Given the description of an element on the screen output the (x, y) to click on. 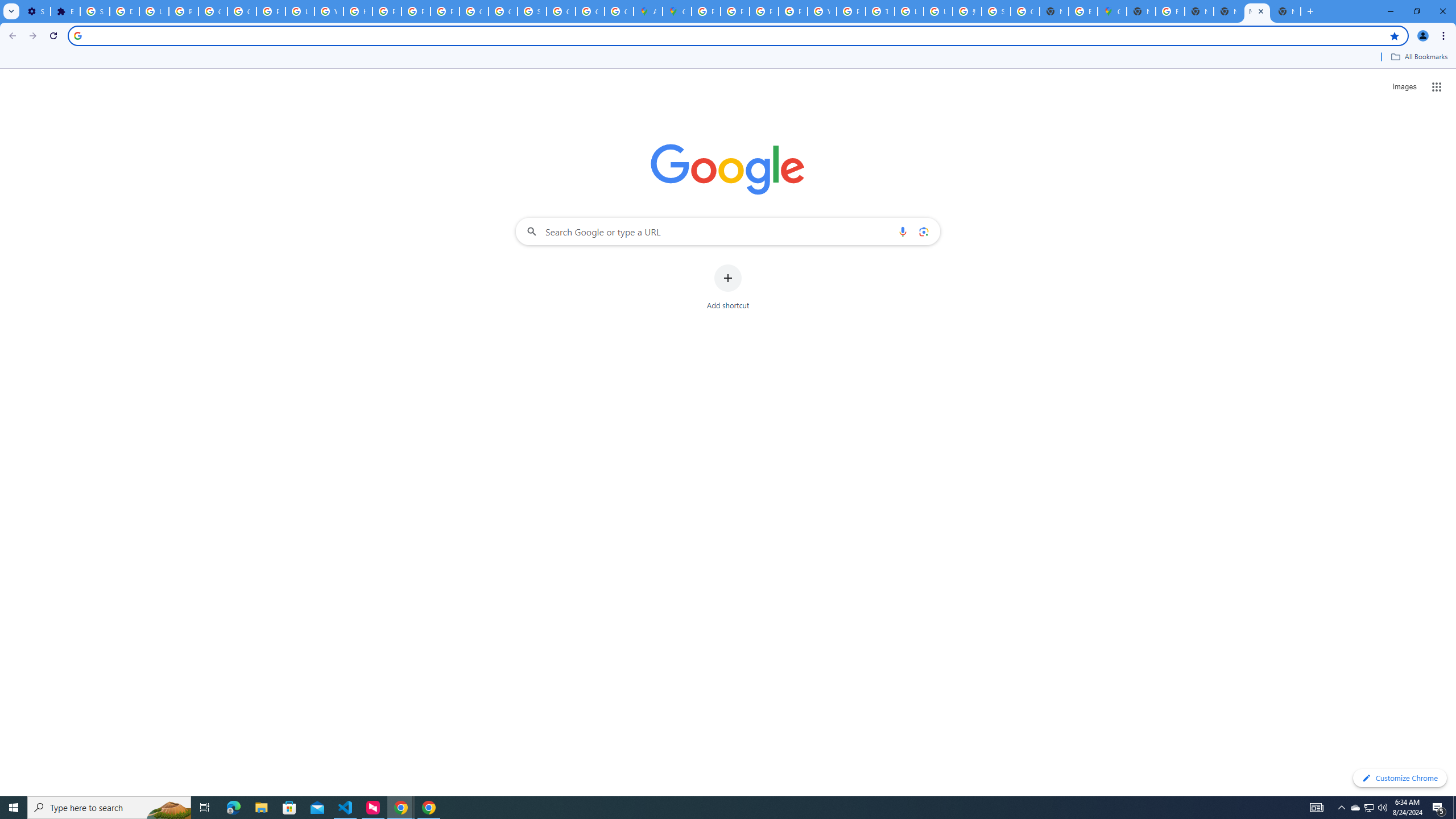
New Tab (1286, 11)
Tips & tricks for Chrome - Google Chrome Help (879, 11)
Sign in - Google Accounts (95, 11)
Sign in - Google Accounts (996, 11)
Policy Accountability and Transparency - Transparency Center (705, 11)
Settings - On startup (35, 11)
